Given the description of an element on the screen output the (x, y) to click on. 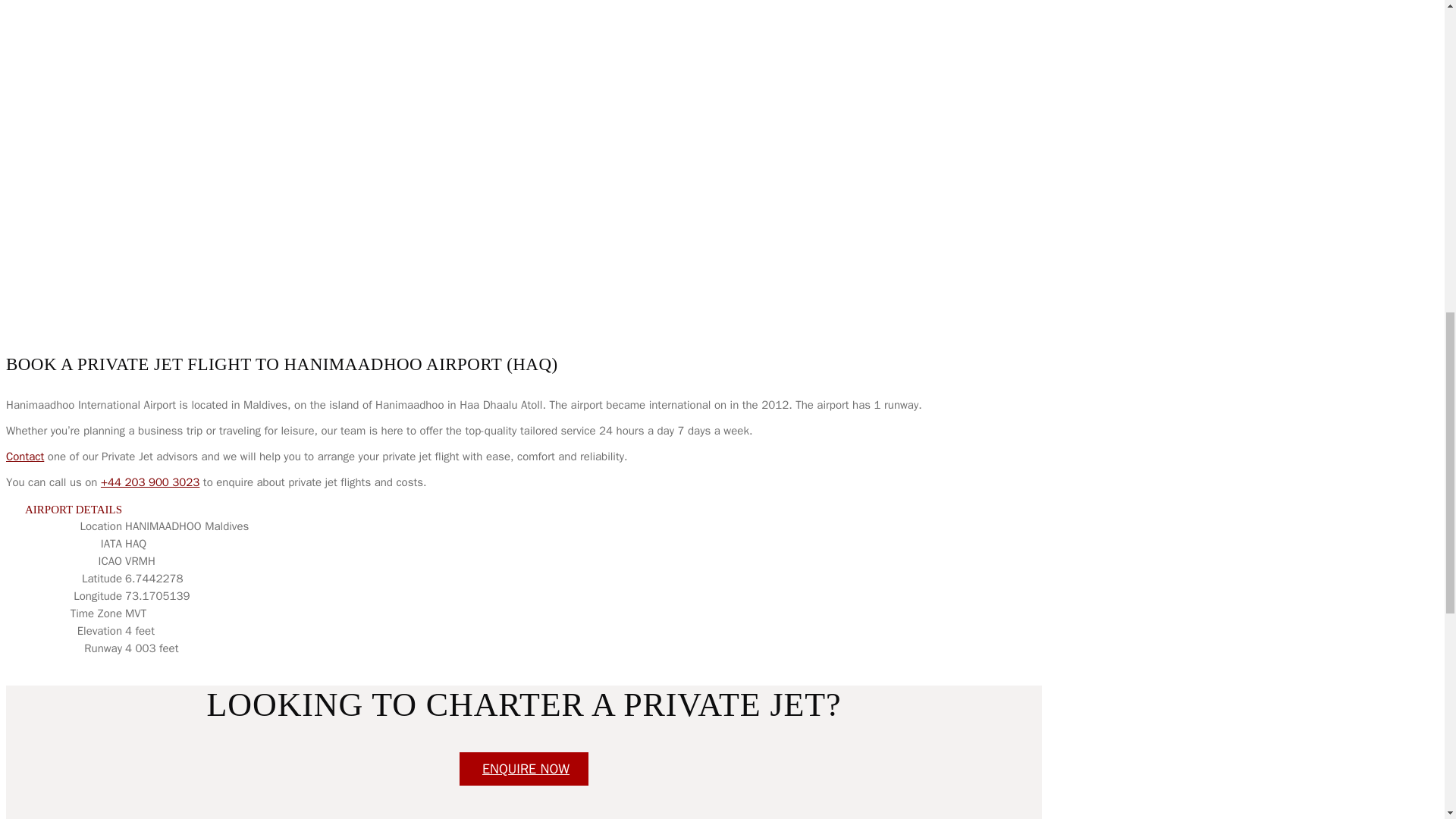
Contact (24, 456)
Contact Us (524, 768)
ENQUIRE NOW (524, 768)
